Given the description of an element on the screen output the (x, y) to click on. 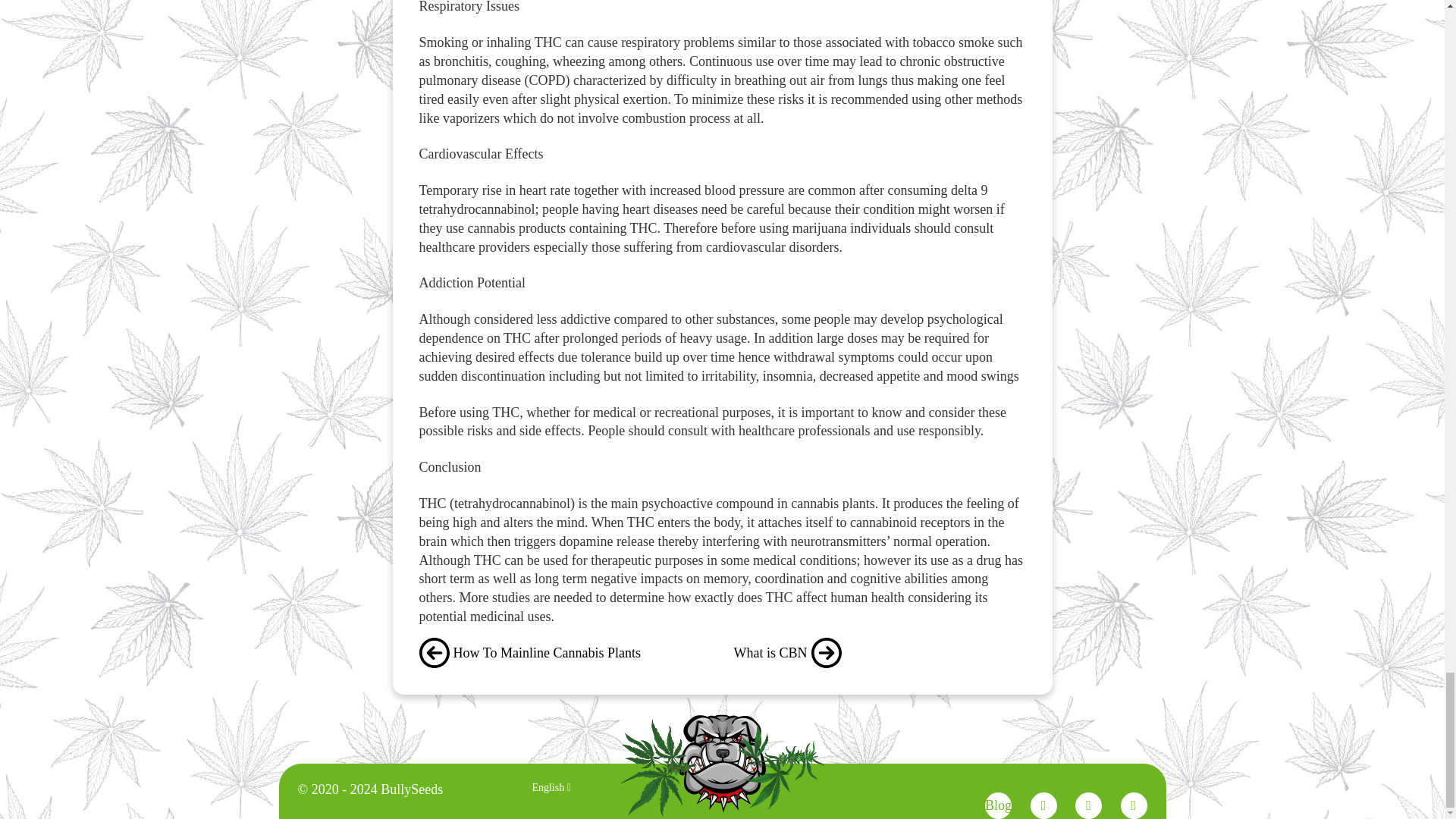
BullySeeds (722, 765)
How To Mainline Cannabis Plants (564, 653)
English (550, 787)
What is CBN (879, 653)
